Given the description of an element on the screen output the (x, y) to click on. 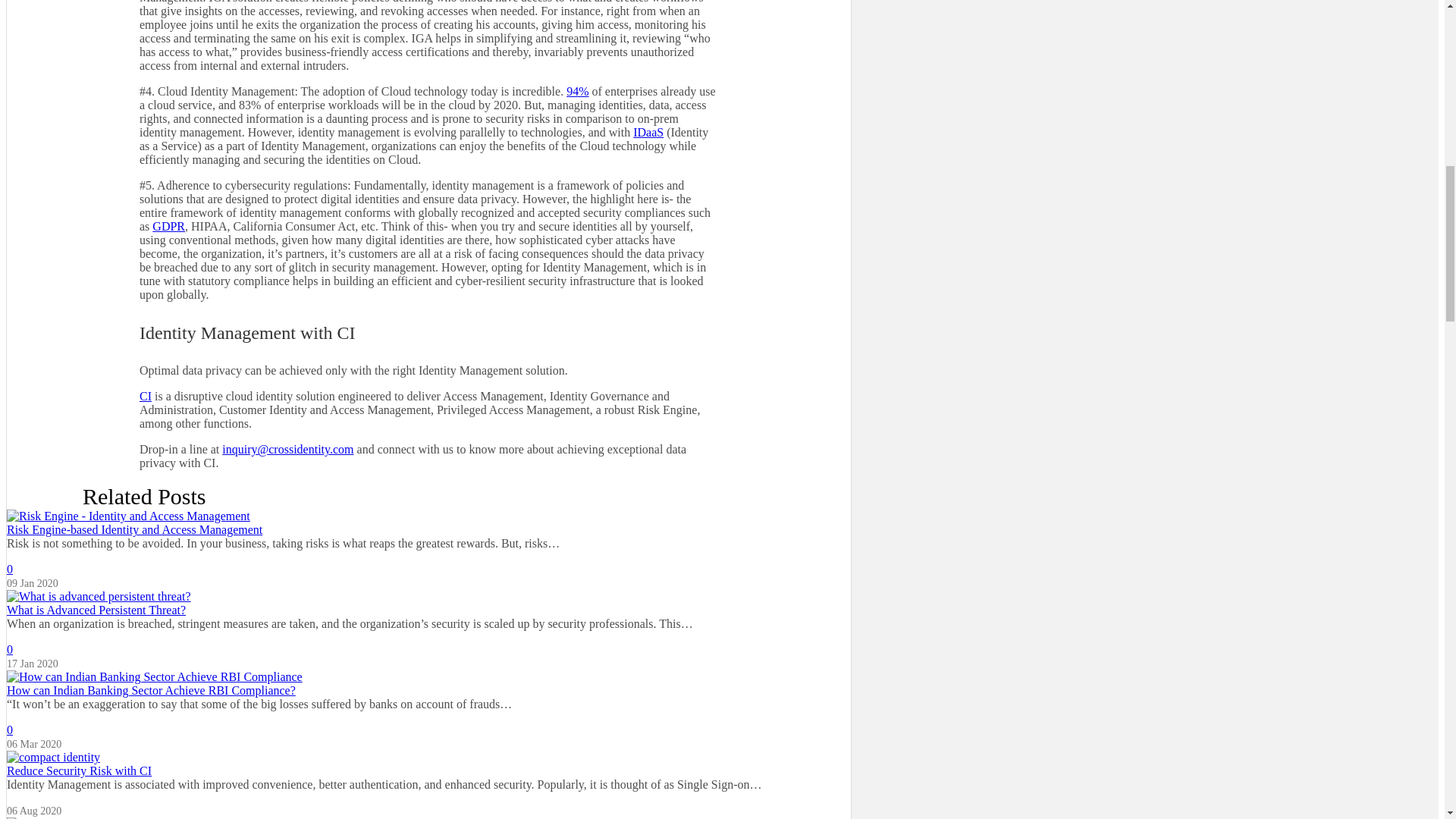
How can Indian Banking Sector Achieve RBI Compliance? 3 (154, 676)
CI (145, 395)
IDaaS (648, 132)
0 (10, 568)
Risk Engine-based Identity and Access Management (428, 530)
0 (10, 649)
Risk Engine-based Identity and Access Management 1 (128, 516)
What is Advanced Persistent Threat? (428, 610)
GDPR (168, 226)
0 (10, 729)
Reduce Security Risk with CI (428, 771)
What is Advanced Persistent Threat? 2 (98, 596)
Reduce Security Risk with CI 5 (53, 757)
How can Indian Banking Sector Achieve RBI Compliance? (428, 690)
